Given the description of an element on the screen output the (x, y) to click on. 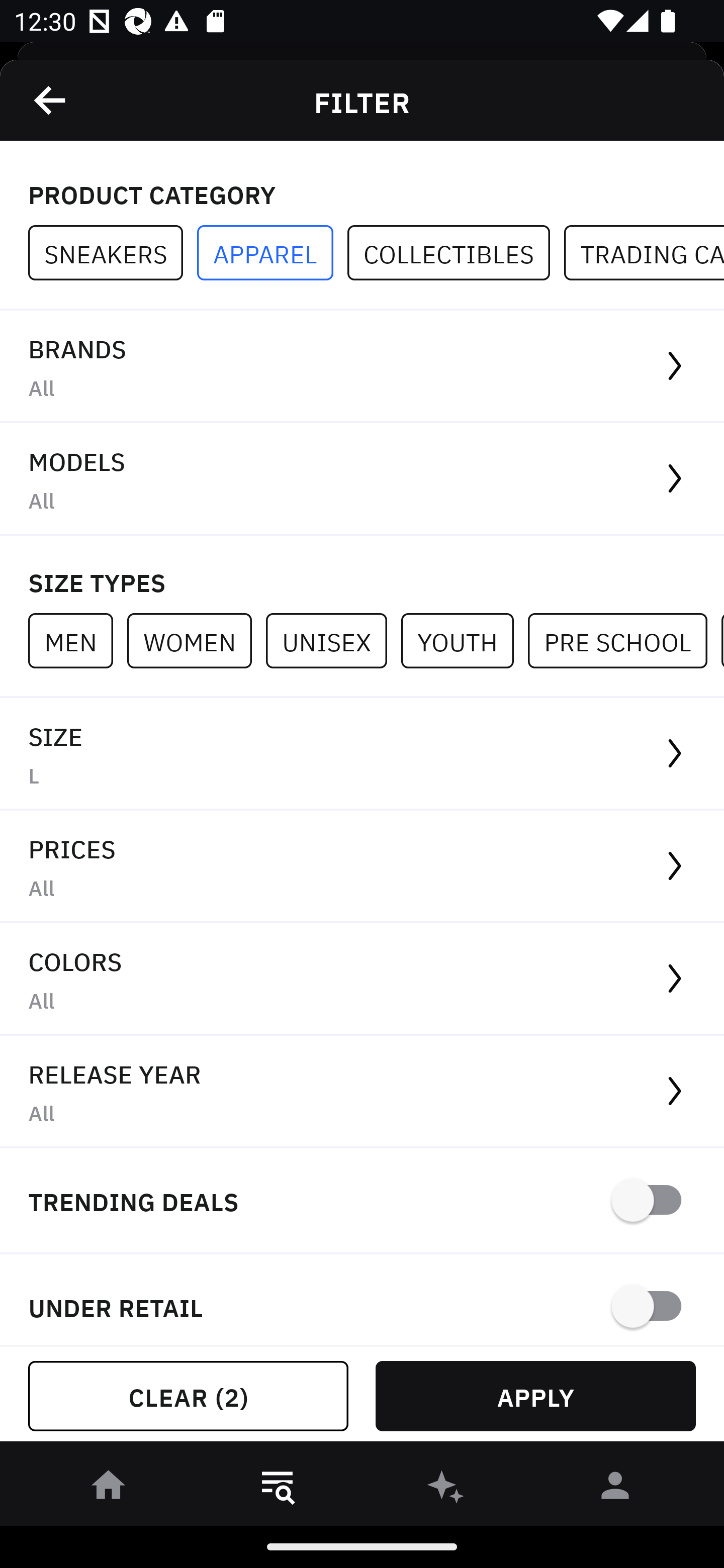
 (50, 100)
SNEAKERS (112, 252)
APPAREL (271, 252)
COLLECTIBLES (455, 252)
TRADING CARDS (643, 252)
BRANDS All (362, 366)
MODELS All (362, 479)
MEN (77, 640)
WOMEN (196, 640)
UNISEX (333, 640)
YOUTH (464, 640)
PRE SCHOOL (624, 640)
SIZE L (362, 753)
PRICES All (362, 866)
COLORS All (362, 979)
RELEASE YEAR All (362, 1091)
TRENDING DEALS (362, 1200)
UNDER RETAIL (362, 1299)
CLEAR (2) (188, 1396)
APPLY (535, 1396)
󰋜 (108, 1488)
󱎸 (277, 1488)
󰫢 (446, 1488)
󰀄 (615, 1488)
